Given the description of an element on the screen output the (x, y) to click on. 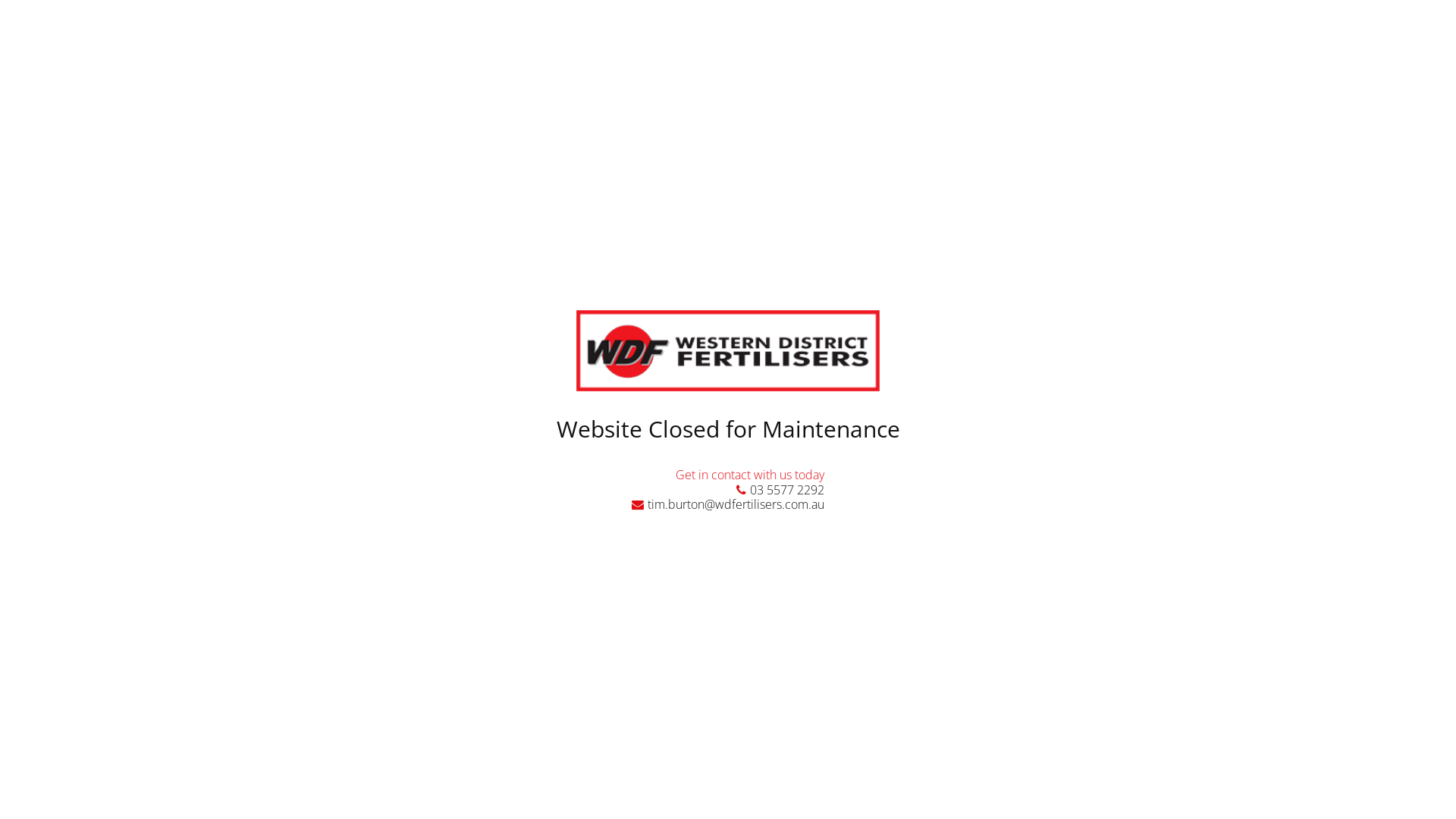
Our Fleet & Services Element type: text (622, 418)
Cartage Element type: text (833, 418)
Hay Element type: text (1042, 418)
Fertilisers Element type: text (412, 418)
Home Element type: text (332, 139)
Contact Element type: text (1118, 139)
tim.burton@wdfertilisers.com.au Element type: text (1059, 88)
tim.burton@wdfertilisers.com.au Element type: text (727, 503)
